Given the description of an element on the screen output the (x, y) to click on. 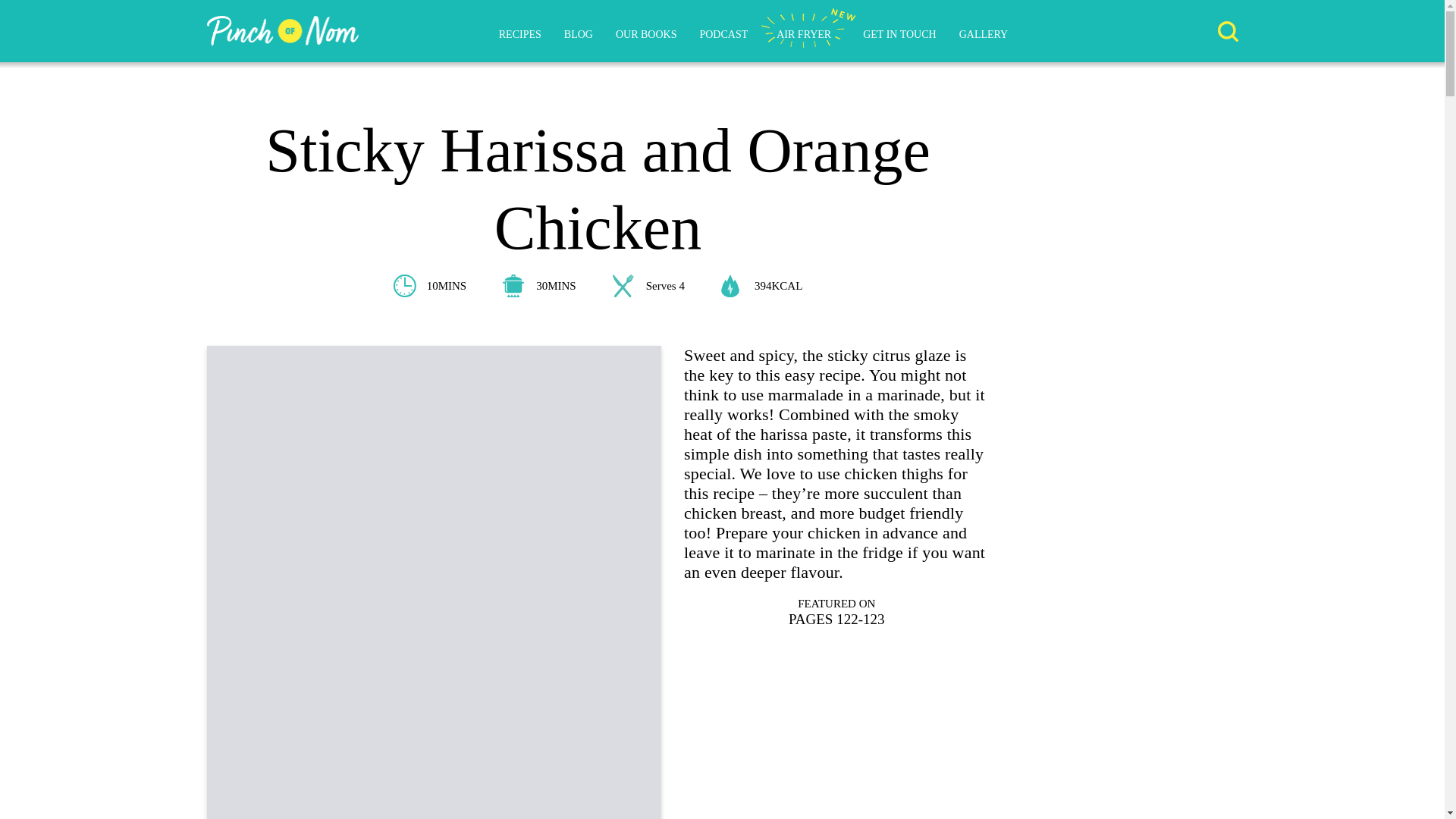
AIR FRYER (808, 34)
PODCAST (722, 34)
GALLERY (983, 34)
Search (1228, 31)
OUR BOOKS (646, 34)
BLOG (578, 34)
GET IN TOUCH (899, 34)
Budget (836, 791)
RECIPES (520, 34)
